Given the description of an element on the screen output the (x, y) to click on. 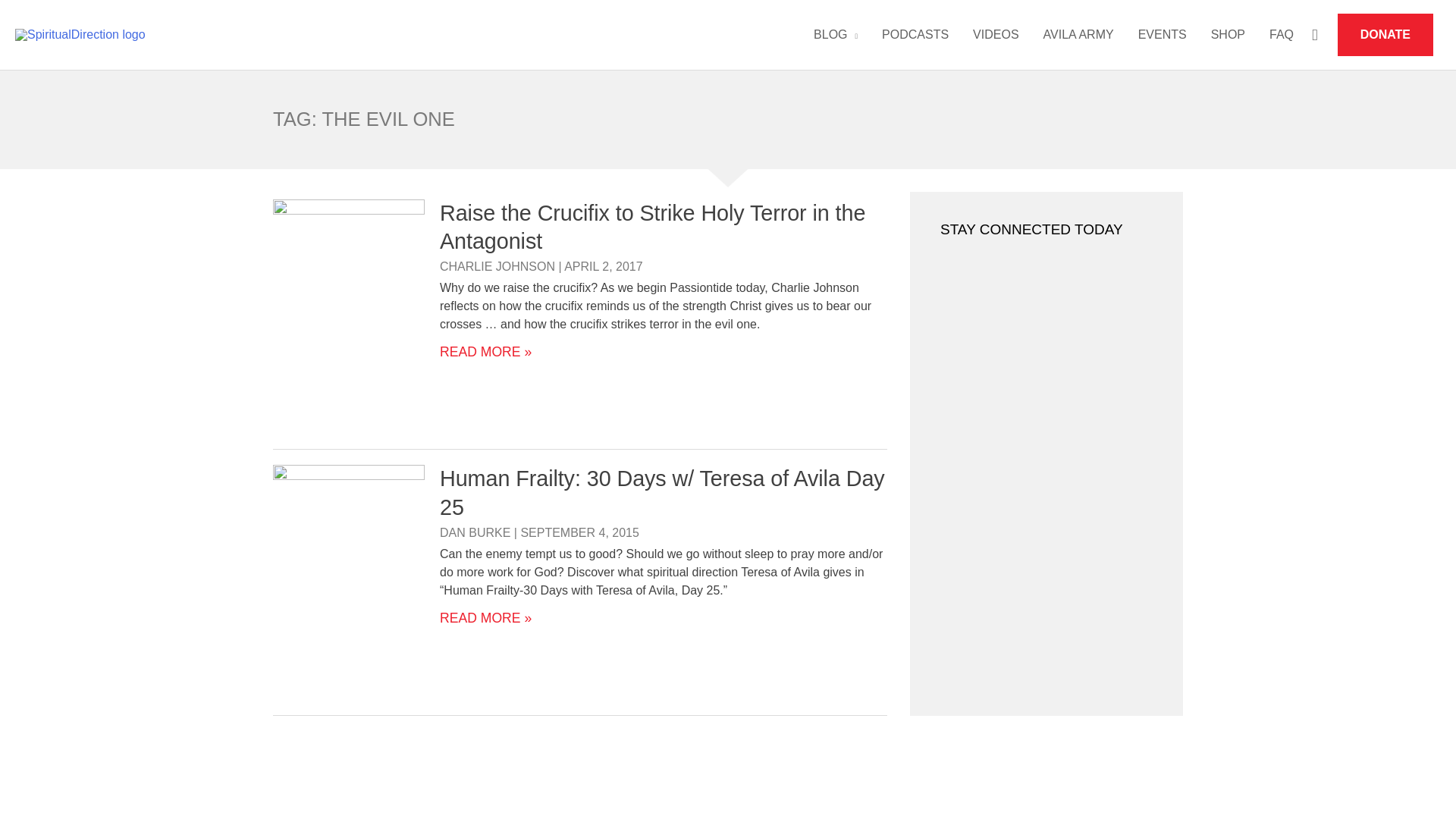
DONATE (1385, 34)
AVILA ARMY (1077, 34)
EVENTS (1161, 34)
VIDEOS (995, 34)
BLOG (835, 34)
PODCASTS (914, 34)
